Given the description of an element on the screen output the (x, y) to click on. 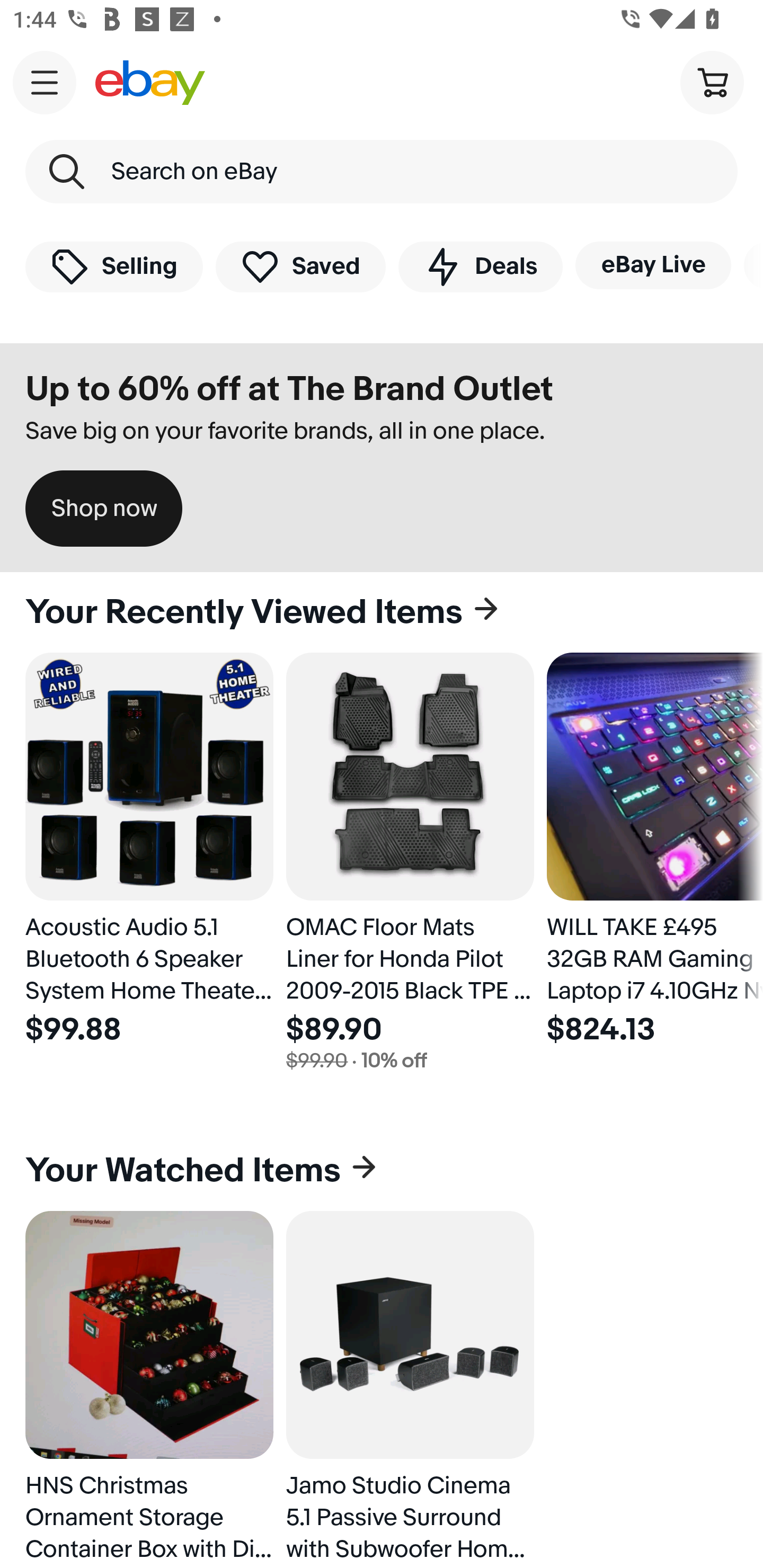
Main navigation, open (44, 82)
Cart button shopping cart (711, 81)
Search on eBay Search Keyword Search on eBay (381, 171)
Selling (113, 266)
Saved (300, 266)
Deals (480, 266)
eBay Live (652, 264)
Up to 60% off at The Brand Outlet (289, 389)
Shop now (103, 508)
Your Recently Viewed Items   (381, 612)
Your Watched Items   (381, 1170)
